Given the description of an element on the screen output the (x, y) to click on. 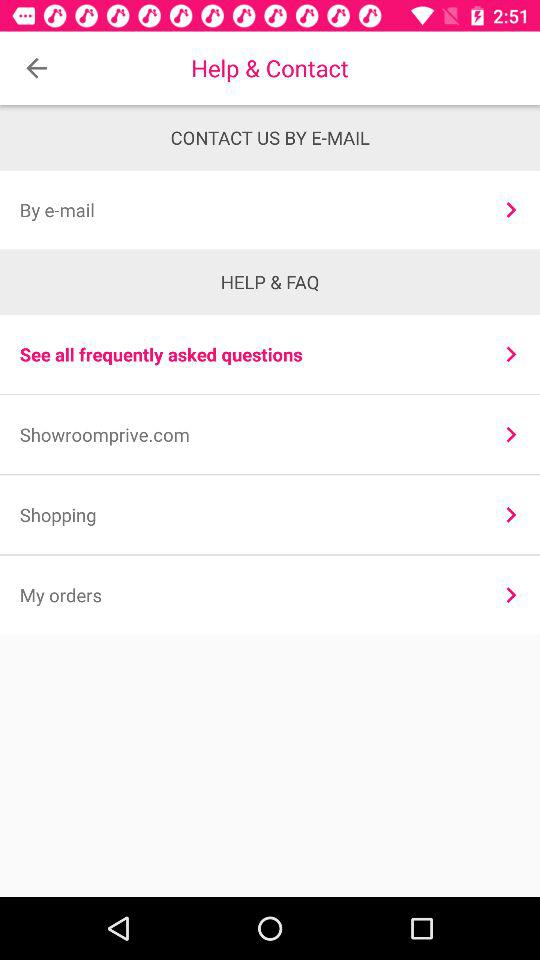
turn on the my orders item (247, 594)
